Given the description of an element on the screen output the (x, y) to click on. 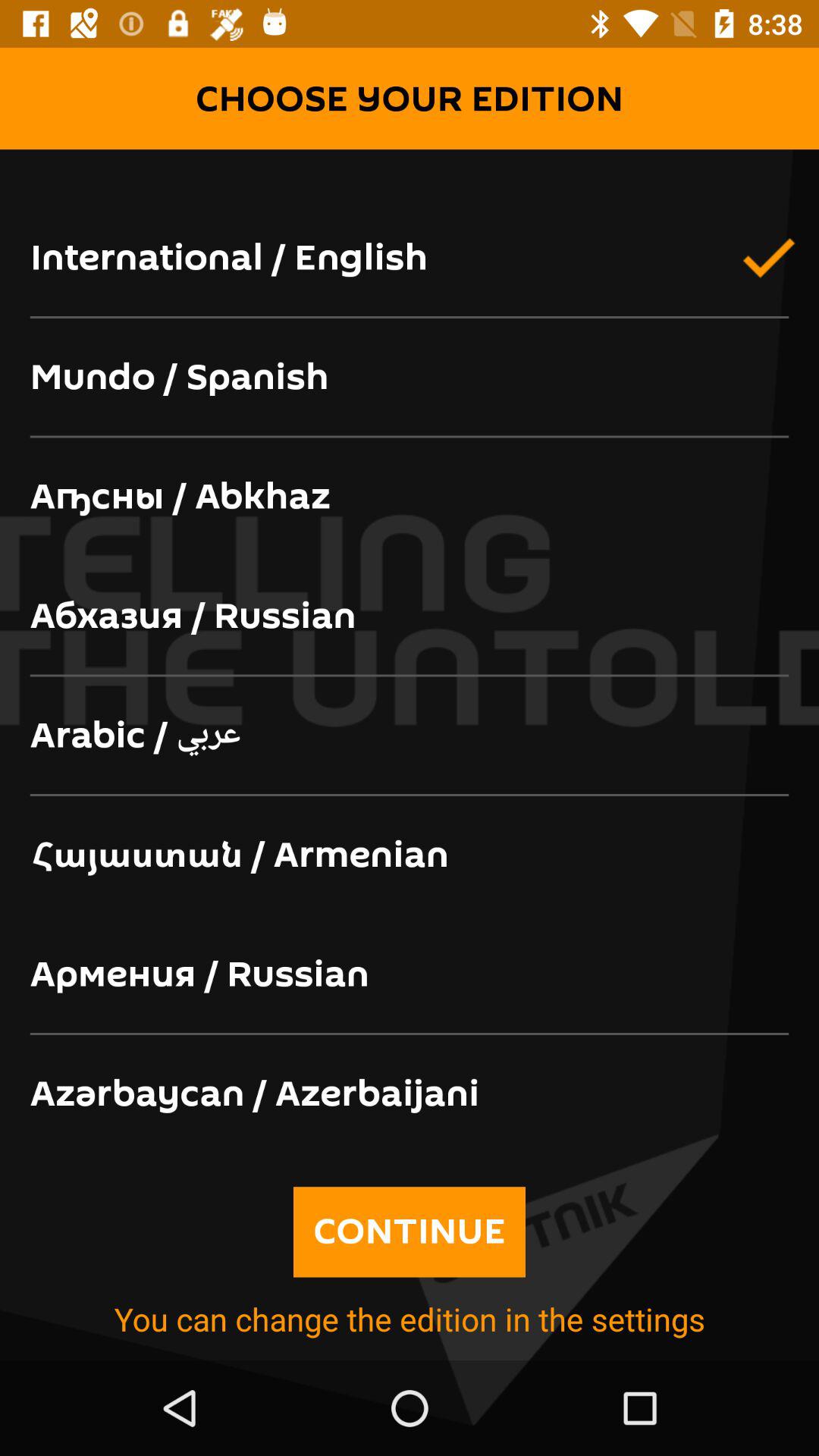
tap mundo / spanish app (409, 377)
